Given the description of an element on the screen output the (x, y) to click on. 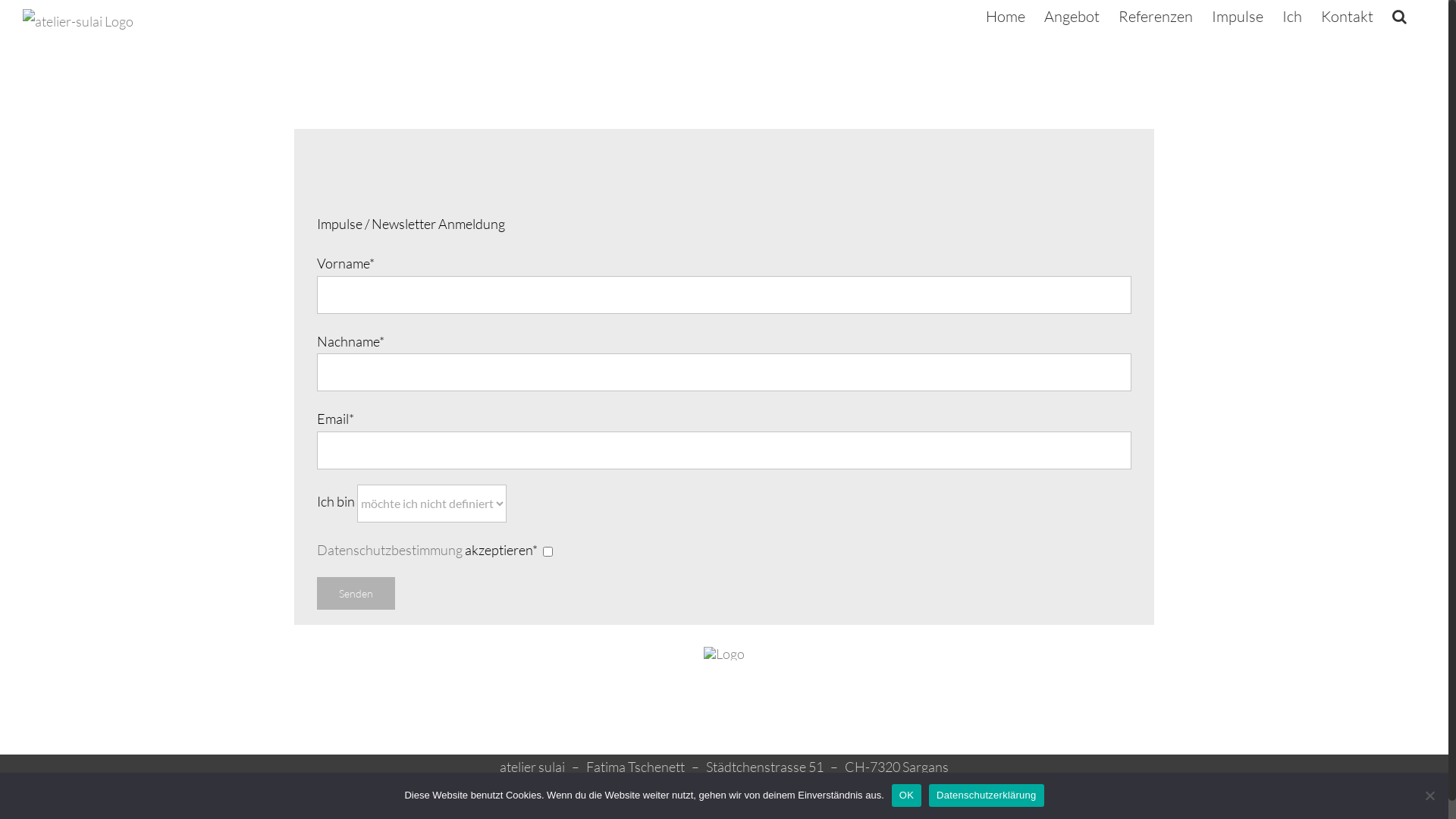
Referenzen Element type: text (1155, 16)
Newsletter anmelden Element type: text (850, 790)
Tel. +41 79 746 61 55 Element type: text (597, 790)
OK Element type: text (906, 795)
Impulse Element type: text (1237, 16)
Nein Element type: hover (1429, 795)
Datenschutzbestimmung Element type: text (389, 549)
Senden Element type: text (355, 593)
Home Element type: text (1005, 16)
Kontakt Element type: text (1347, 16)
E-Mail Element type: text (688, 790)
Angebot Element type: text (1071, 16)
Instagram Element type: text (747, 790)
Ich Element type: text (1292, 16)
Suche Element type: hover (1399, 16)
